Given the description of an element on the screen output the (x, y) to click on. 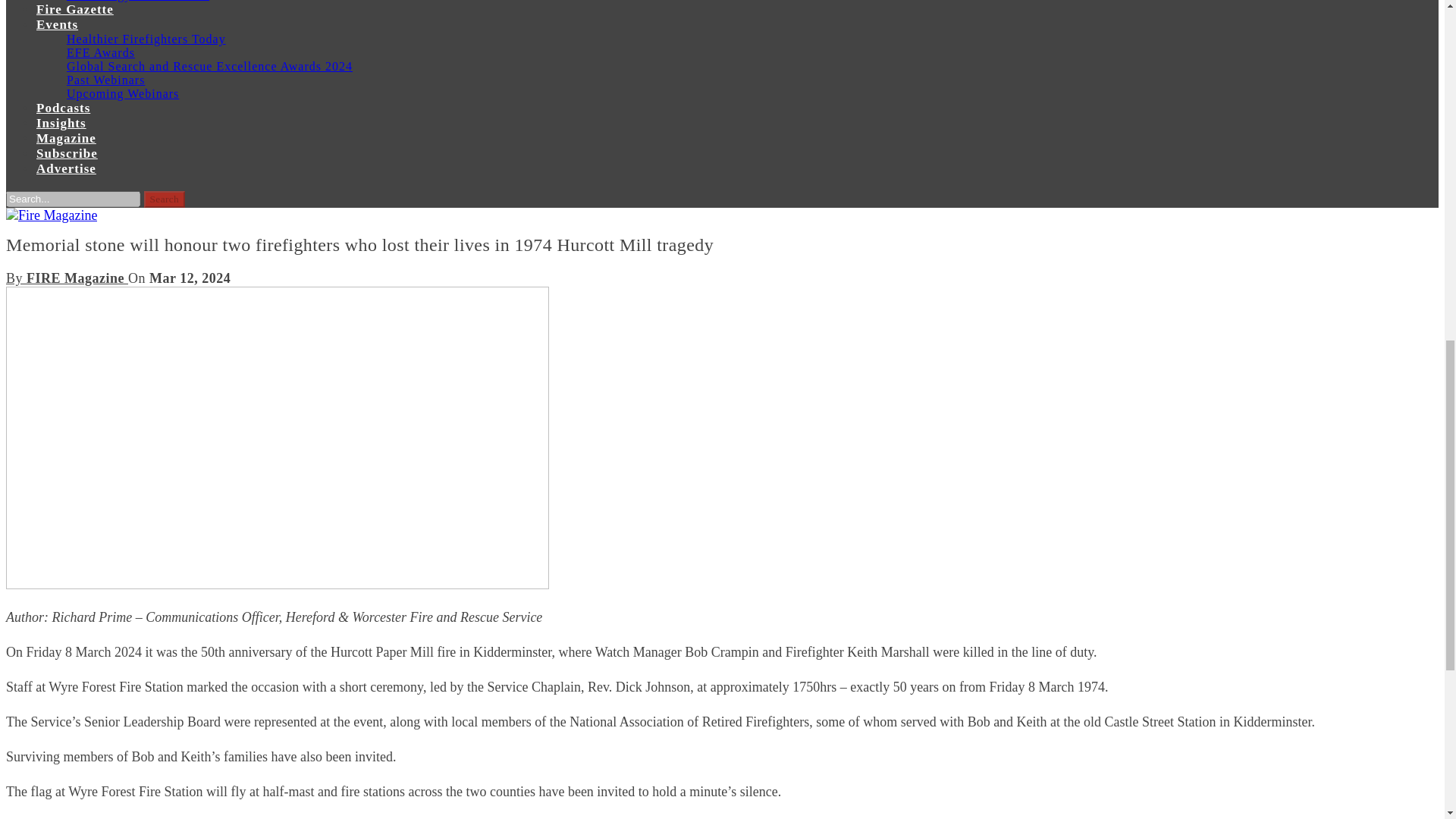
Browse Author Articles (66, 278)
Search (165, 199)
Events (57, 24)
Fire Gazette (74, 9)
Search (165, 199)
Search for: (72, 198)
